Given the description of an element on the screen output the (x, y) to click on. 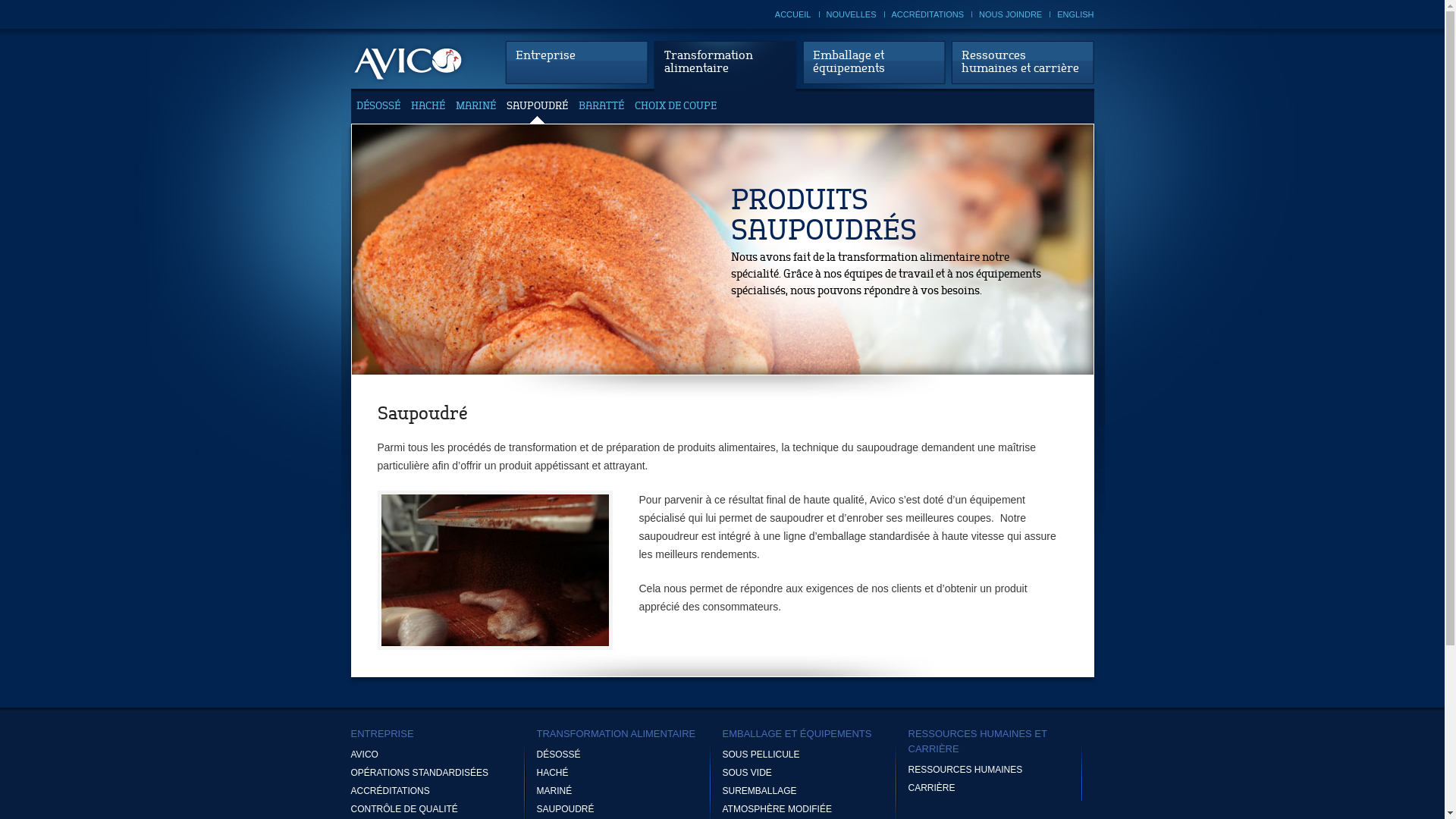
ENGLISH Element type: text (1075, 13)
CHOIX DE COUPE Element type: text (674, 120)
ENTREPRISE Element type: text (443, 733)
AVICO Element type: text (443, 754)
TRANSFORMATION ALIMENTAIRE Element type: text (629, 733)
SUREMBALLAGE Element type: text (814, 790)
_MG_1092 Element type: hover (494, 569)
Transformation alimentaire Element type: text (725, 67)
NOUVELLES Element type: text (851, 13)
Entreprise Element type: text (576, 62)
NOUS JOINDRE Element type: text (1010, 13)
ACCUEIL Element type: text (793, 13)
SOUS PELLICULE Element type: text (814, 754)
RESSOURCES HUMAINES Element type: text (1001, 769)
SOUS VIDE Element type: text (814, 772)
